Given the description of an element on the screen output the (x, y) to click on. 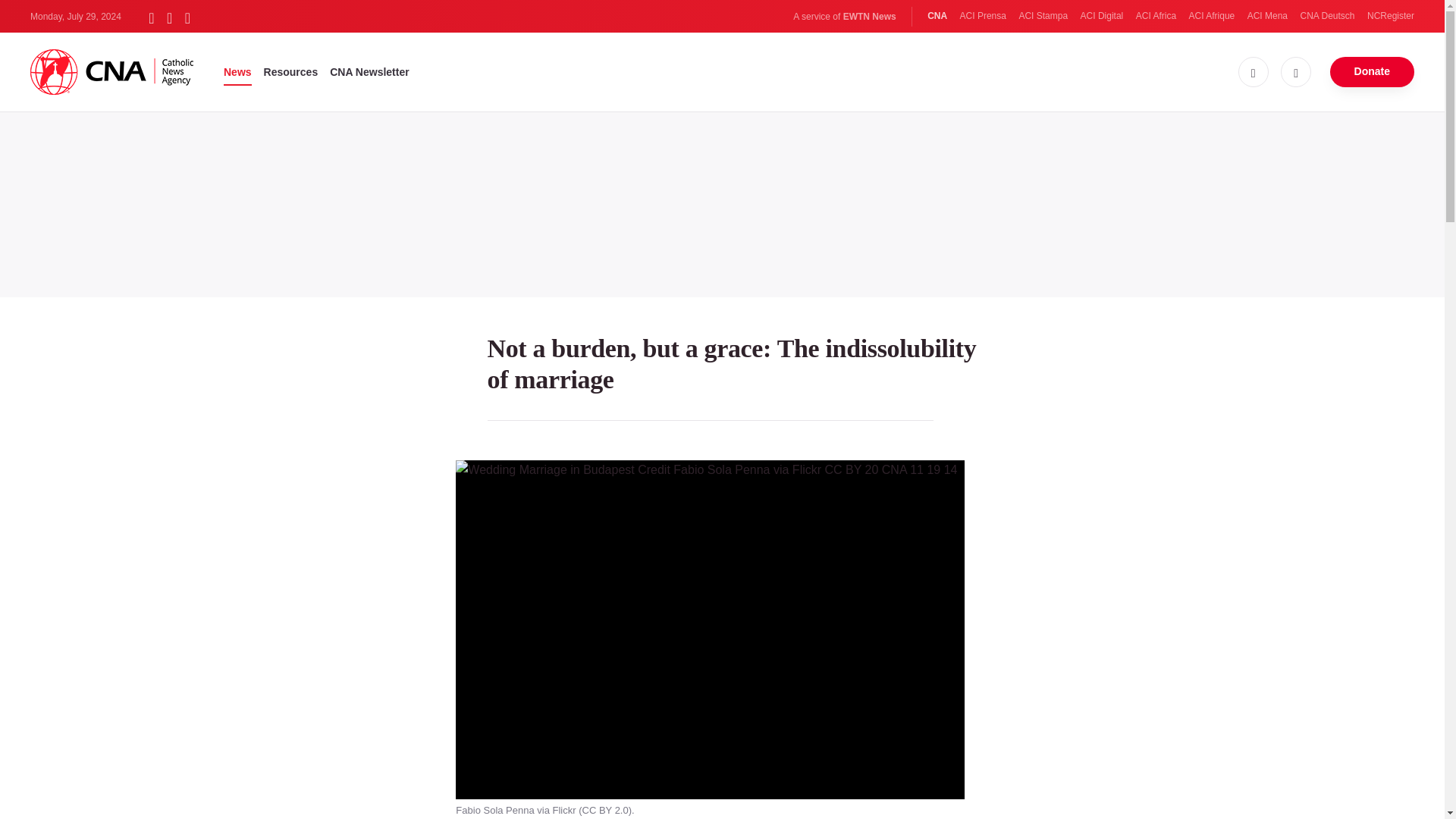
Resources (290, 71)
ACI Stampa (1042, 16)
EWTN News (869, 16)
ACI Africa (1155, 16)
ACI Prensa (982, 16)
ACI Digital (1102, 16)
EWTN News (869, 16)
CNA Deutsch (1327, 16)
News (237, 71)
CNA (937, 16)
ACI Mena (1267, 16)
NCRegister (1390, 16)
ACI Afrique (1211, 16)
